Given the description of an element on the screen output the (x, y) to click on. 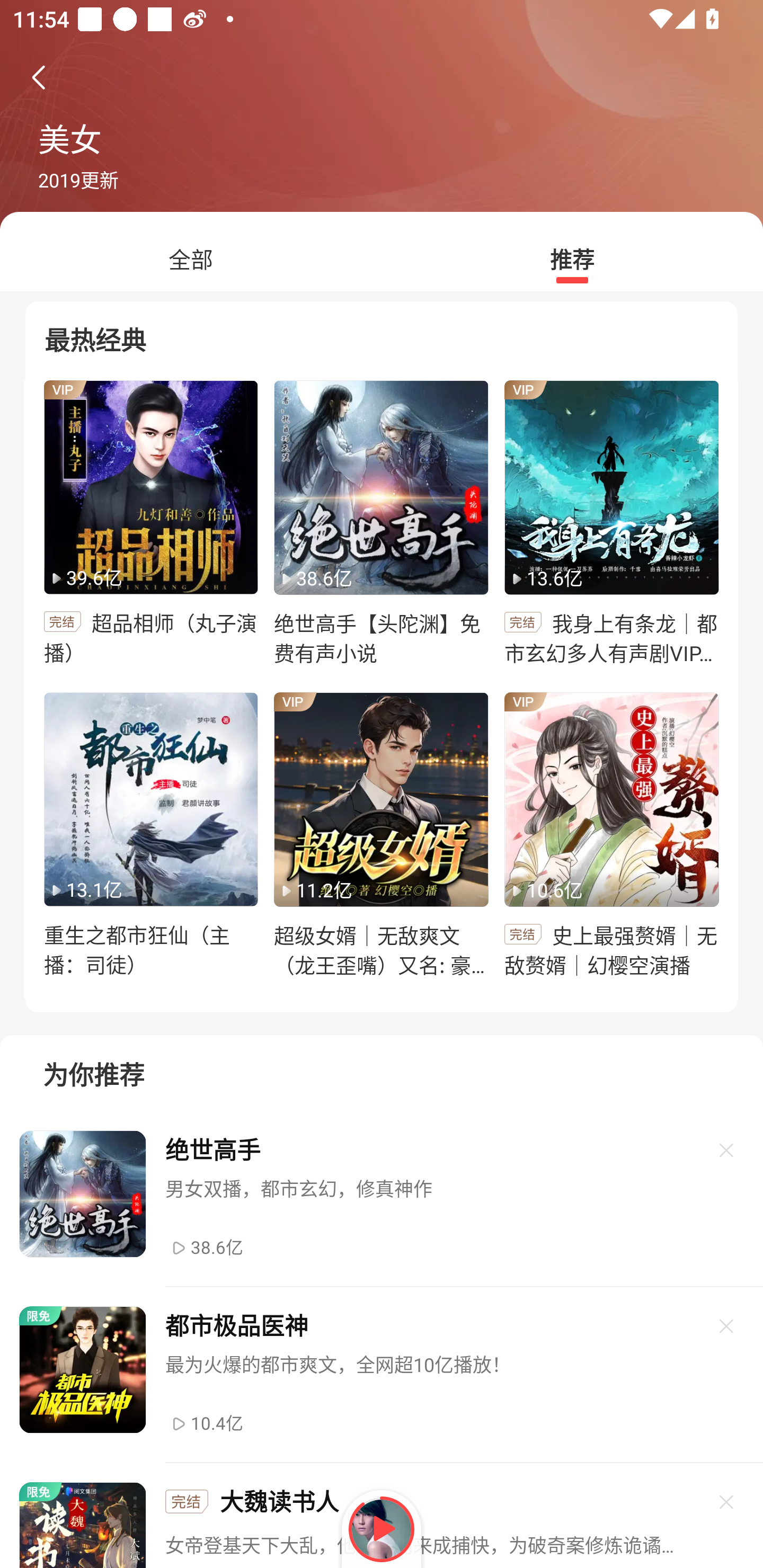
返回 (37, 77)
全部 (190, 259)
推荐 (572, 259)
最热经典 (381, 336)
专辑图 (150, 487)
专辑图 (380, 487)
专辑图 (611, 487)
专辑图 (150, 799)
专辑图 (380, 799)
专辑图 (611, 799)
为你推荐 (381, 1066)
绝世高手 男女双播，都市玄幻，修真神作 38.6亿 更多 (381, 1199)
更多 (727, 1150)
专辑标签 都市极品医神 最为火爆的都市爽文，全网超10亿播放！ 10.4亿 更多 (381, 1374)
更多 (727, 1325)
专辑标签    大魏读书人 女帝登基天下大乱，他穿越而来成捕快，为破奇案修炼诡谲异术 更多 (381, 1515)
继续播放Alpha-橘子海OrangeOcean (381, 1529)
